Given the description of an element on the screen output the (x, y) to click on. 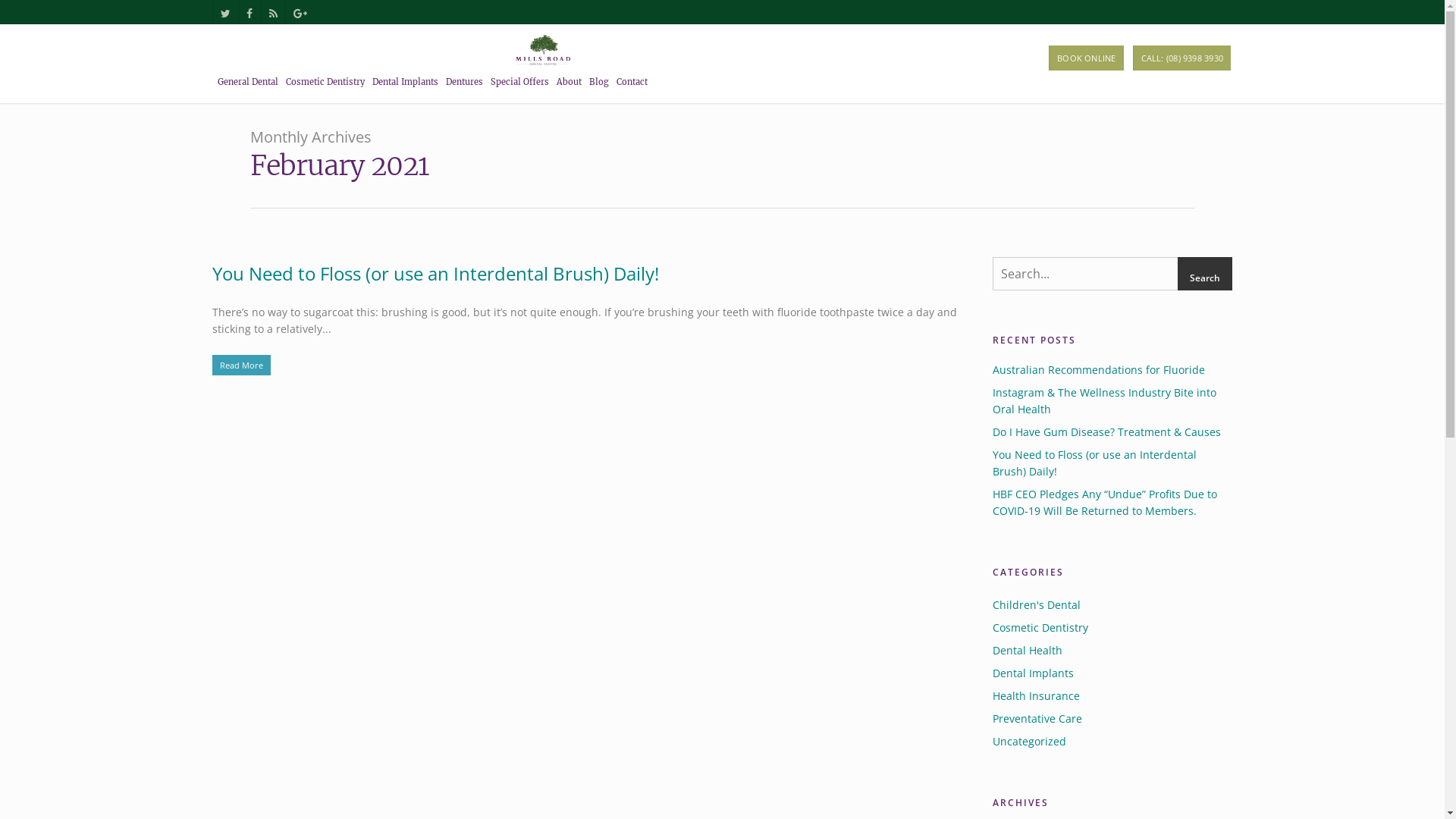
Cosmetic Dentistry Element type: text (1112, 627)
Children's Dental Element type: text (1112, 604)
You Need to Floss (or use an Interdental Brush) Daily! Element type: text (435, 272)
Dental Implants Element type: text (1112, 673)
Read More Element type: text (584, 364)
Special Offers Element type: text (519, 84)
Preventative Care Element type: text (1112, 718)
Search Element type: text (1204, 278)
Dental Implants Element type: text (405, 84)
Cosmetic Dentistry Element type: text (325, 84)
Health Insurance Element type: text (1112, 695)
Blog Element type: text (598, 84)
General Dental Element type: text (247, 84)
Dentures Element type: text (464, 84)
You Need to Floss (or use an Interdental Brush) Daily! Element type: text (1112, 463)
Australian Recommendations for Fluoride Element type: text (1112, 369)
CALL: (08) 9398 3930 Element type: text (1181, 57)
Dental Health Element type: text (1112, 650)
Instagram & The Wellness Industry Bite into Oral Health Element type: text (1112, 400)
Do I Have Gum Disease? Treatment & Causes Element type: text (1112, 431)
BOOK ONLINE Element type: text (1085, 57)
Uncategorized Element type: text (1112, 741)
Contact Element type: text (631, 84)
Search for: Element type: hover (1112, 273)
About Element type: text (568, 84)
